Given the description of an element on the screen output the (x, y) to click on. 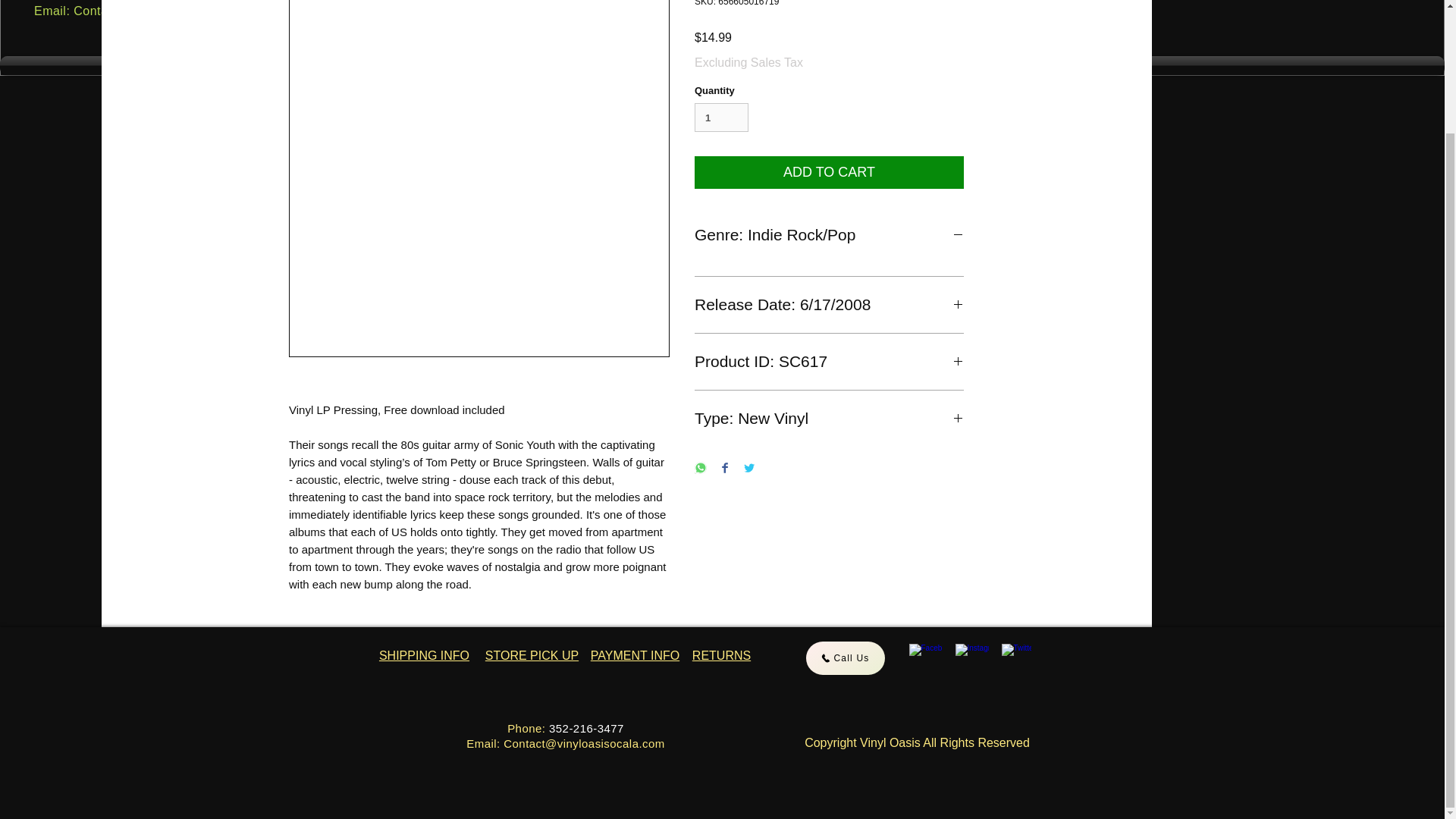
RETURNS (722, 655)
Type: New Vinyl (828, 418)
Call Us (844, 657)
Log In (370, 20)
STORE PICK UP (531, 655)
ADD TO CART (828, 172)
Product ID: SC617 (828, 361)
SHIPPING INFO (423, 655)
1 (721, 117)
PAYMENT INFO (635, 655)
